Given the description of an element on the screen output the (x, y) to click on. 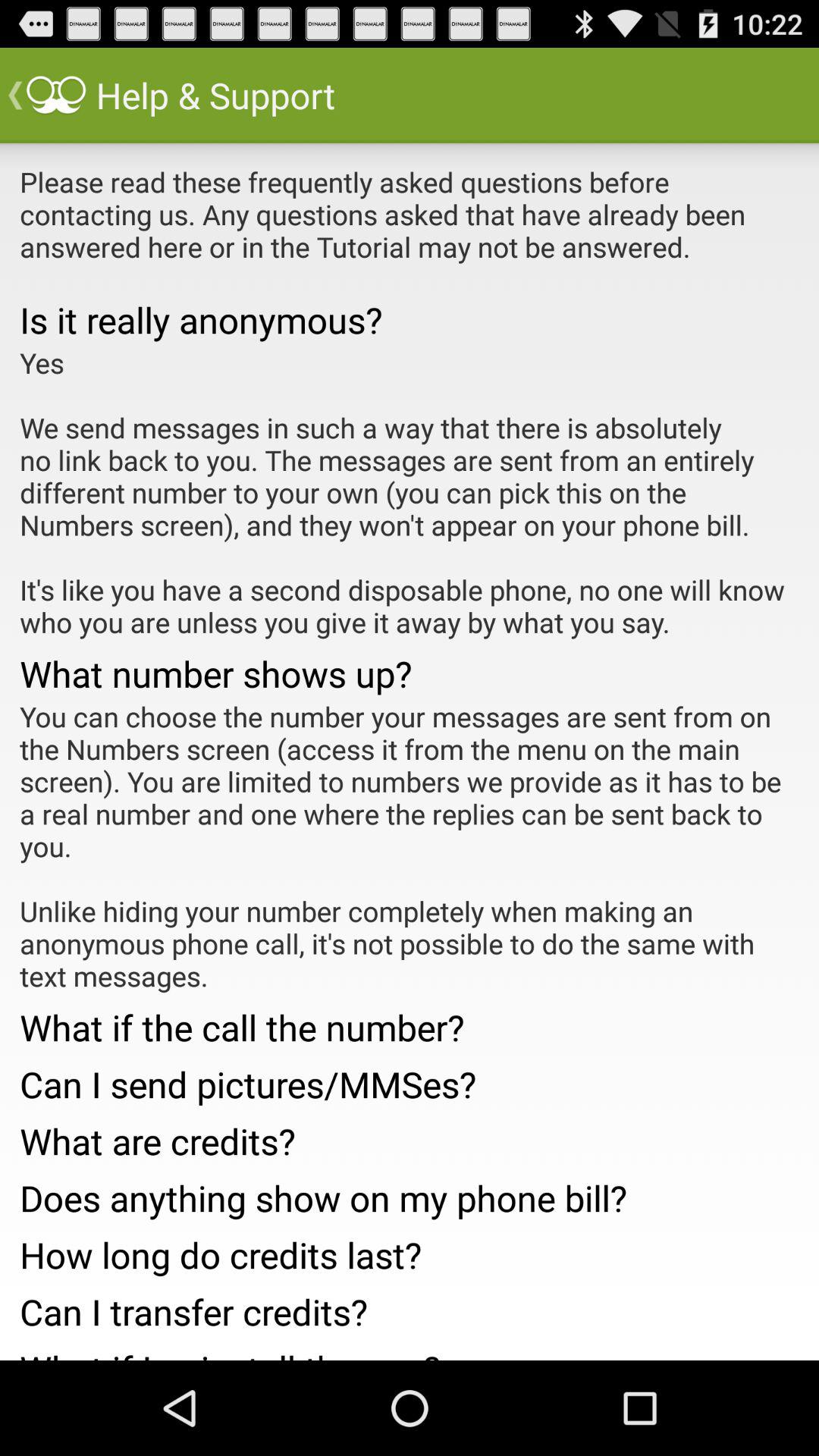
flip to does anything show icon (409, 1193)
